Given the description of an element on the screen output the (x, y) to click on. 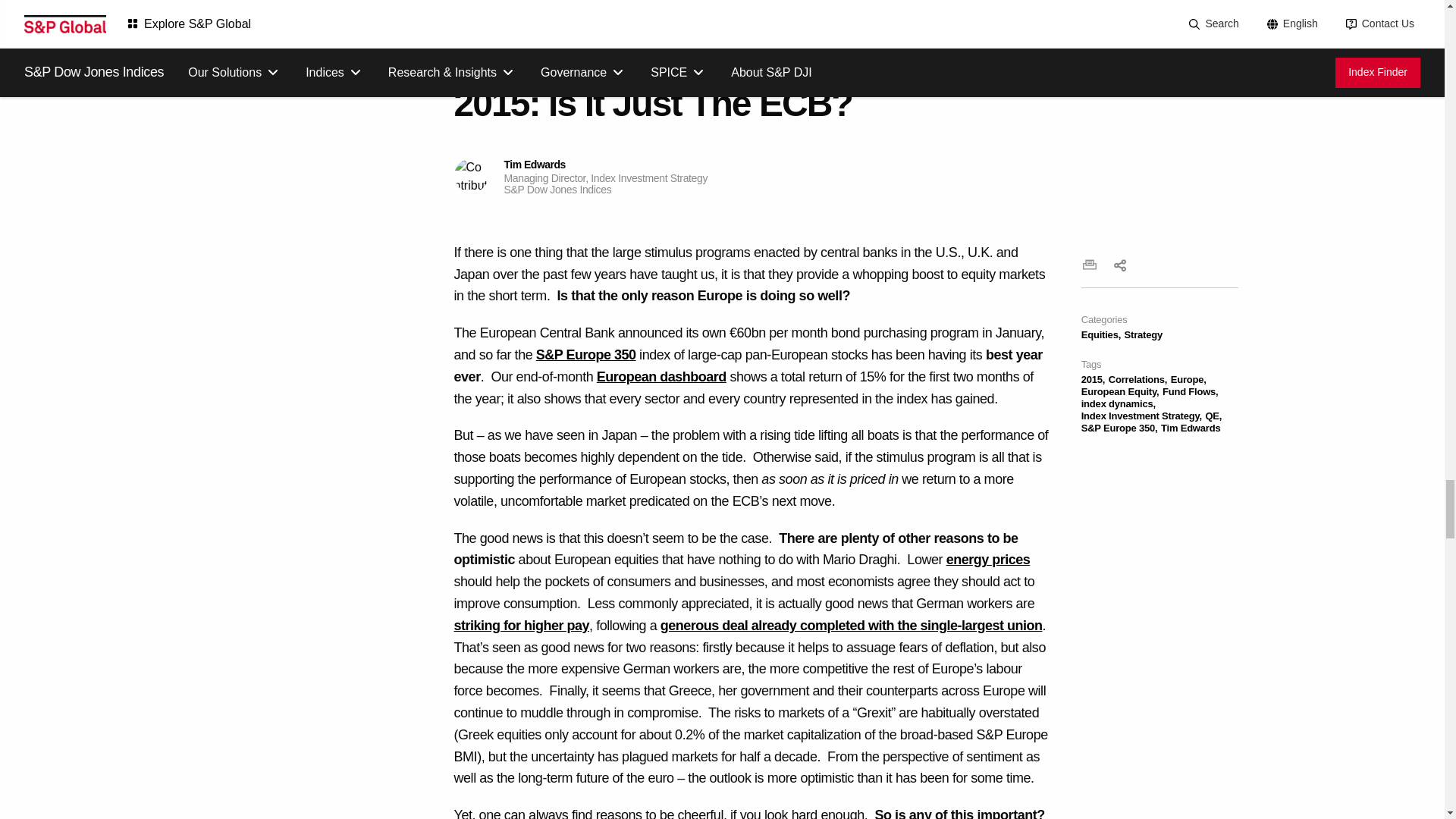
View all posts in Equities (1101, 334)
View all posts in Strategy (1142, 334)
Tim Edwards (469, 175)
